Given the description of an element on the screen output the (x, y) to click on. 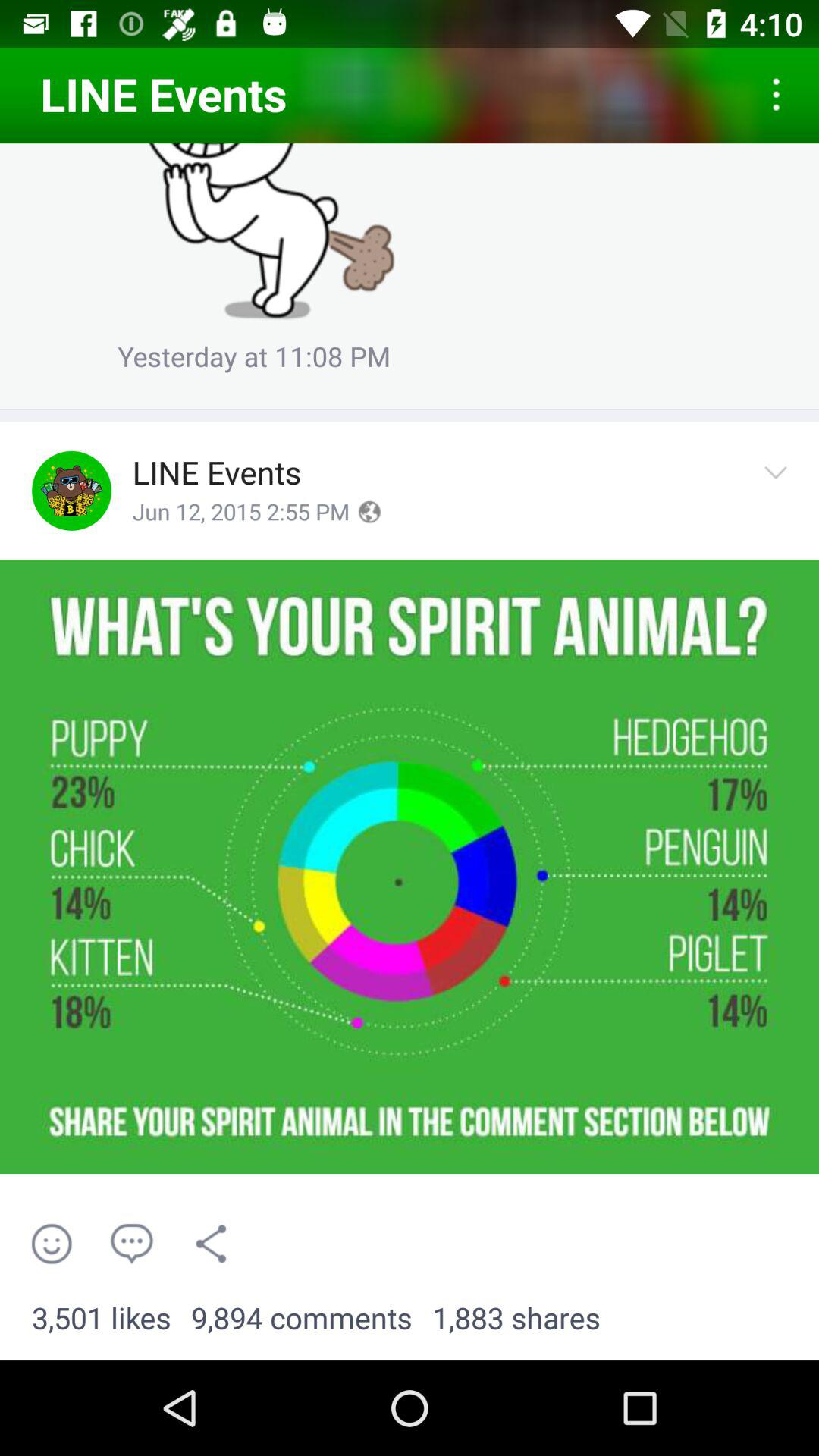
jump to 9,894 comments (301, 1318)
